Given the description of an element on the screen output the (x, y) to click on. 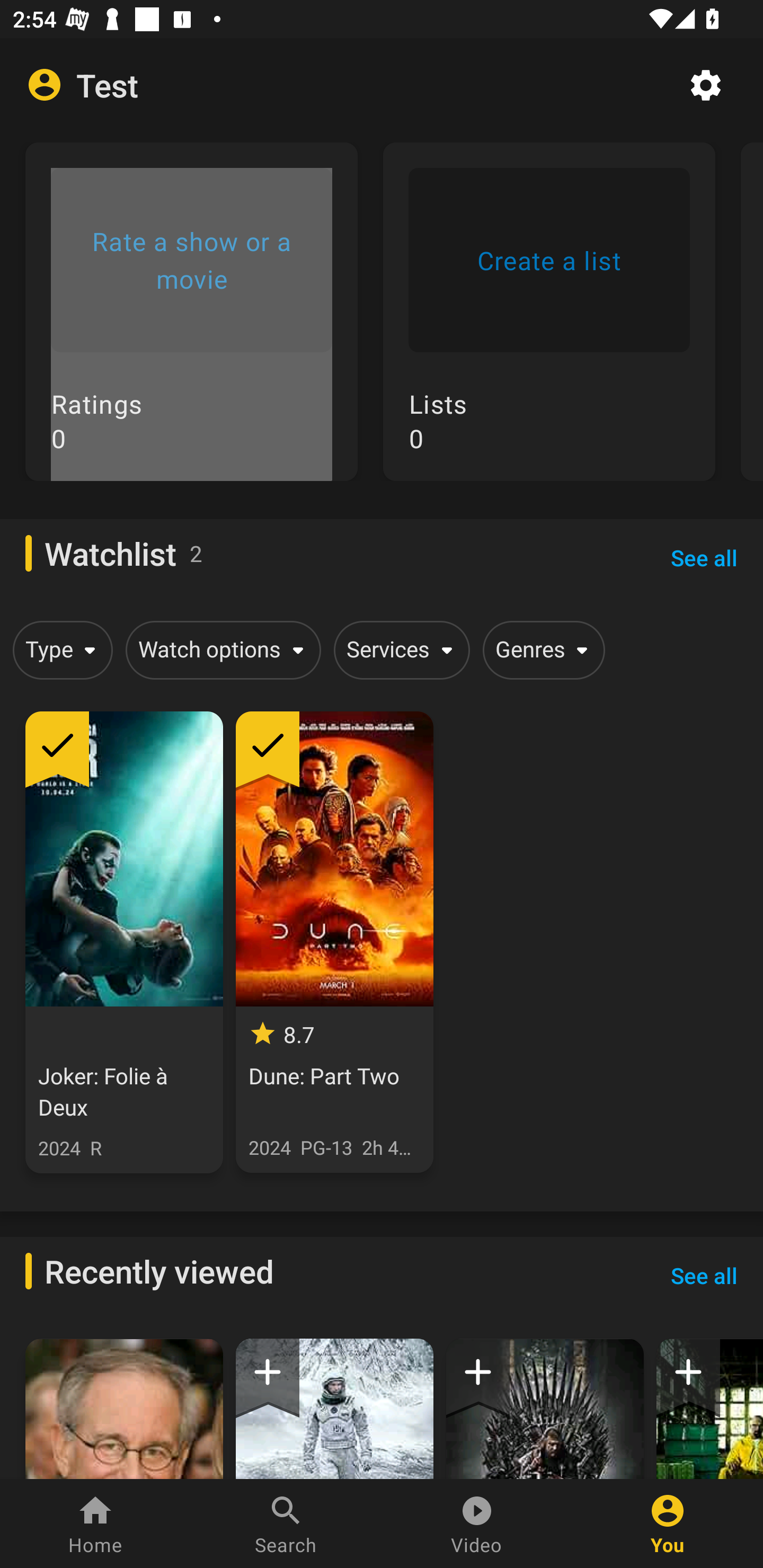
Rate a show or a movie Ratings 0 (191, 324)
Create a list Lists 0 (548, 324)
See all See all Watchlist (703, 557)
Type (59, 649)
Watch options (219, 649)
Services (398, 649)
Genres (540, 649)
Joker: Folie à Deux 2024  R   (123, 941)
8.7 Dune: Part Two 2024  PG-13  2h 46m (334, 941)
See all See all Recently viewed (703, 1275)
Home (95, 1523)
Search (285, 1523)
Video (476, 1523)
